Given the description of an element on the screen output the (x, y) to click on. 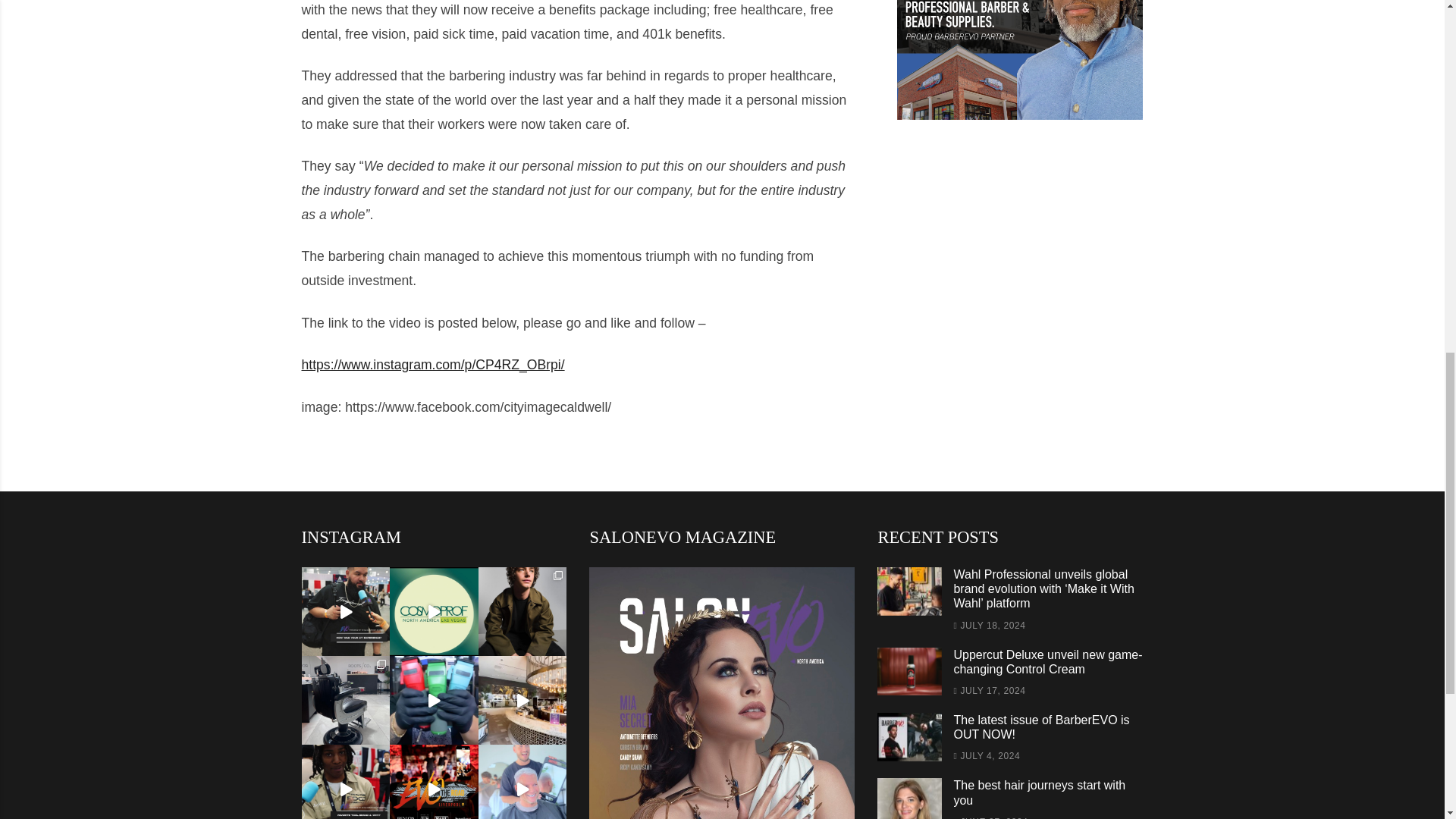
SalonEVO Magazine (721, 693)
